Given the description of an element on the screen output the (x, y) to click on. 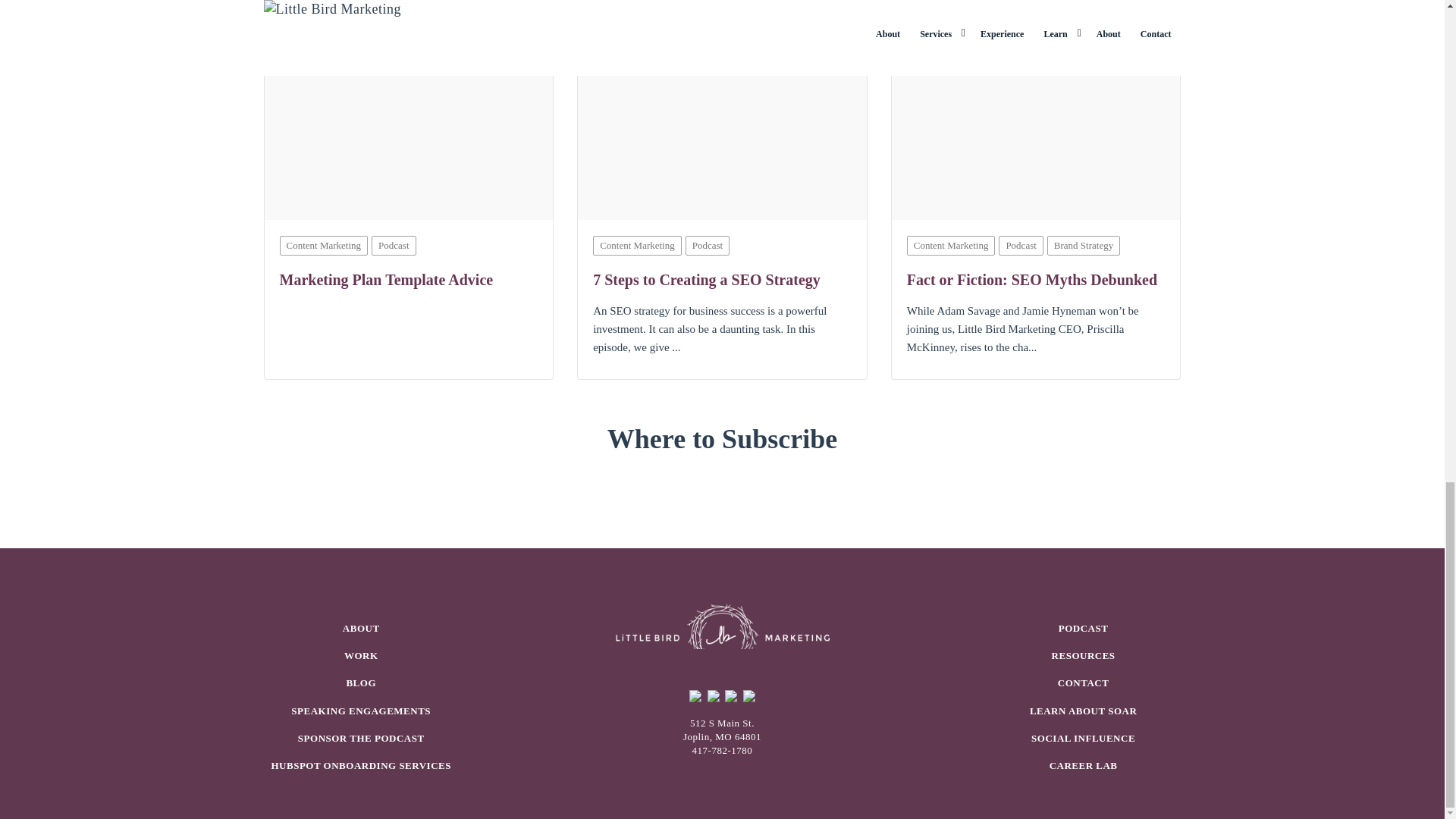
Subscribe via RSS (652, 485)
Subscribe via Stitcher (759, 485)
Subscribe via Apple Podcasts (687, 485)
Subscribe via Spotify (724, 485)
Subscribe via iHeart (793, 485)
